Given the description of an element on the screen output the (x, y) to click on. 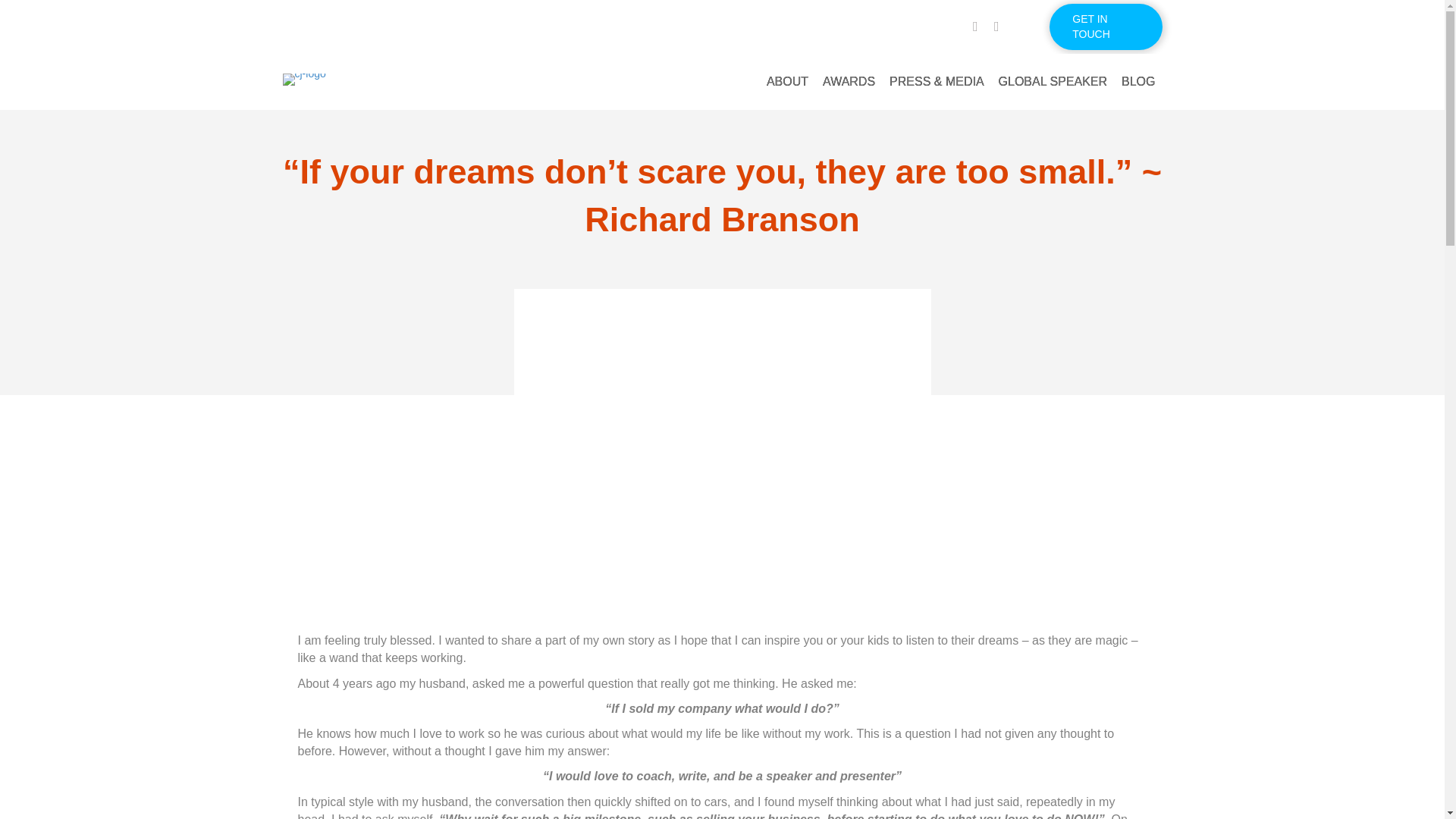
Golden magic wand with bright sparkles. Vector illustration. (722, 438)
Submit (442, 572)
Submit (442, 576)
ABOUT (787, 81)
GLOBAL SPEAKER (1052, 81)
AWARDS (848, 81)
cj-logo (303, 79)
GET IN TOUCH (1105, 26)
BLOG (1138, 81)
